Given the description of an element on the screen output the (x, y) to click on. 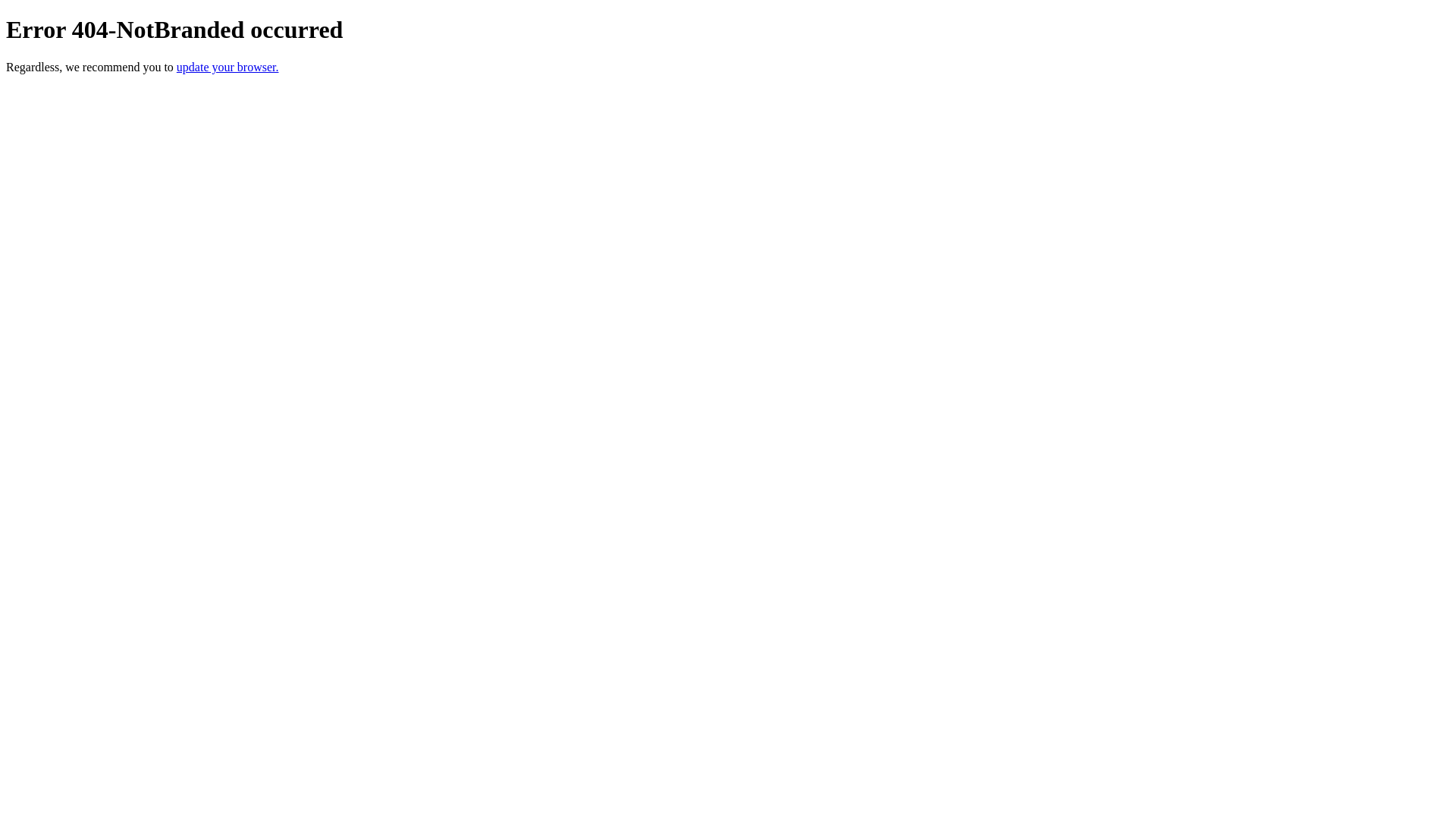
update your browser. Element type: text (227, 66)
